Given the description of an element on the screen output the (x, y) to click on. 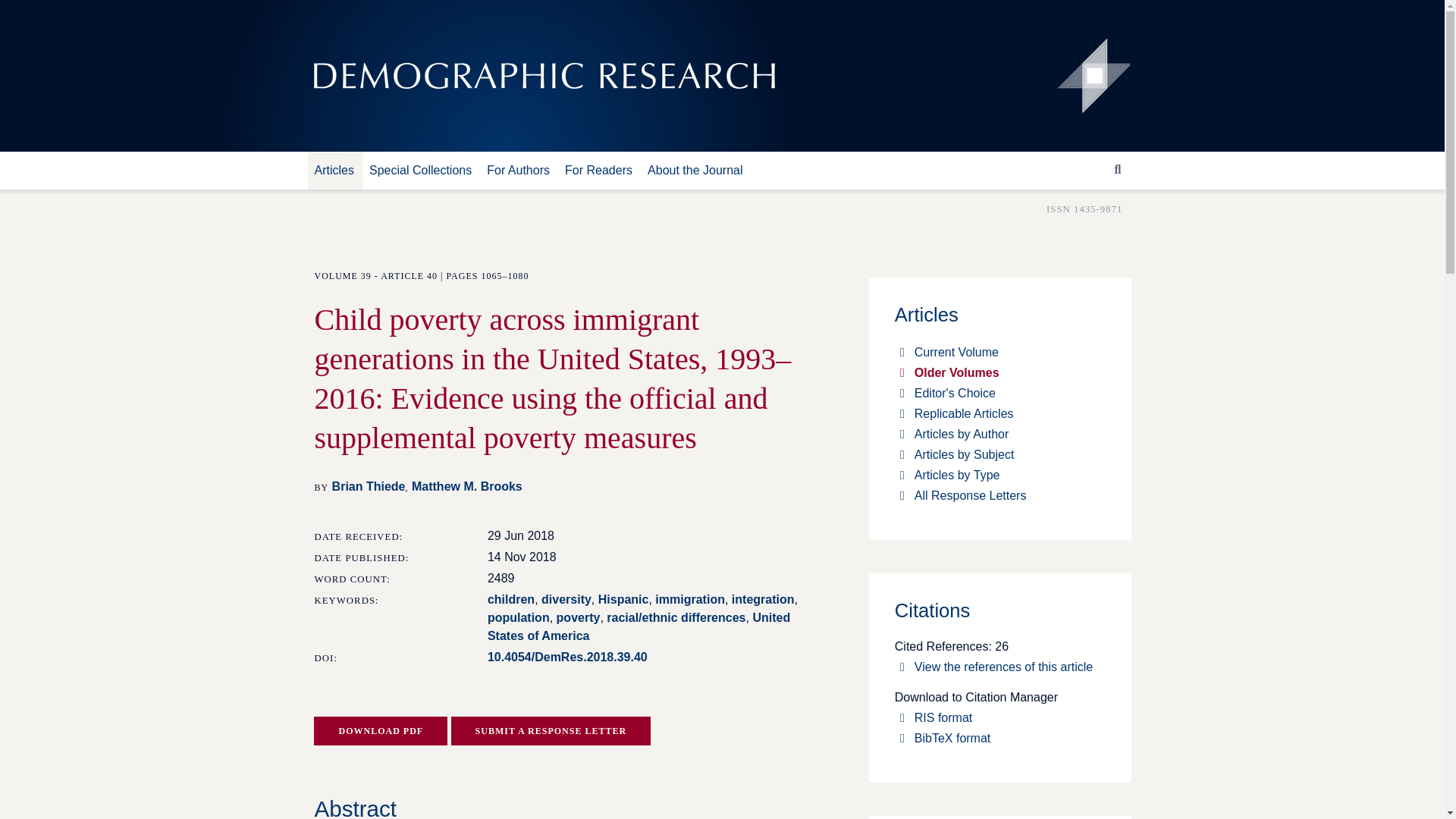
For Authors (522, 170)
Special Collections (424, 170)
About the Journal (700, 170)
Articles (338, 170)
For Readers (603, 170)
